Given the description of an element on the screen output the (x, y) to click on. 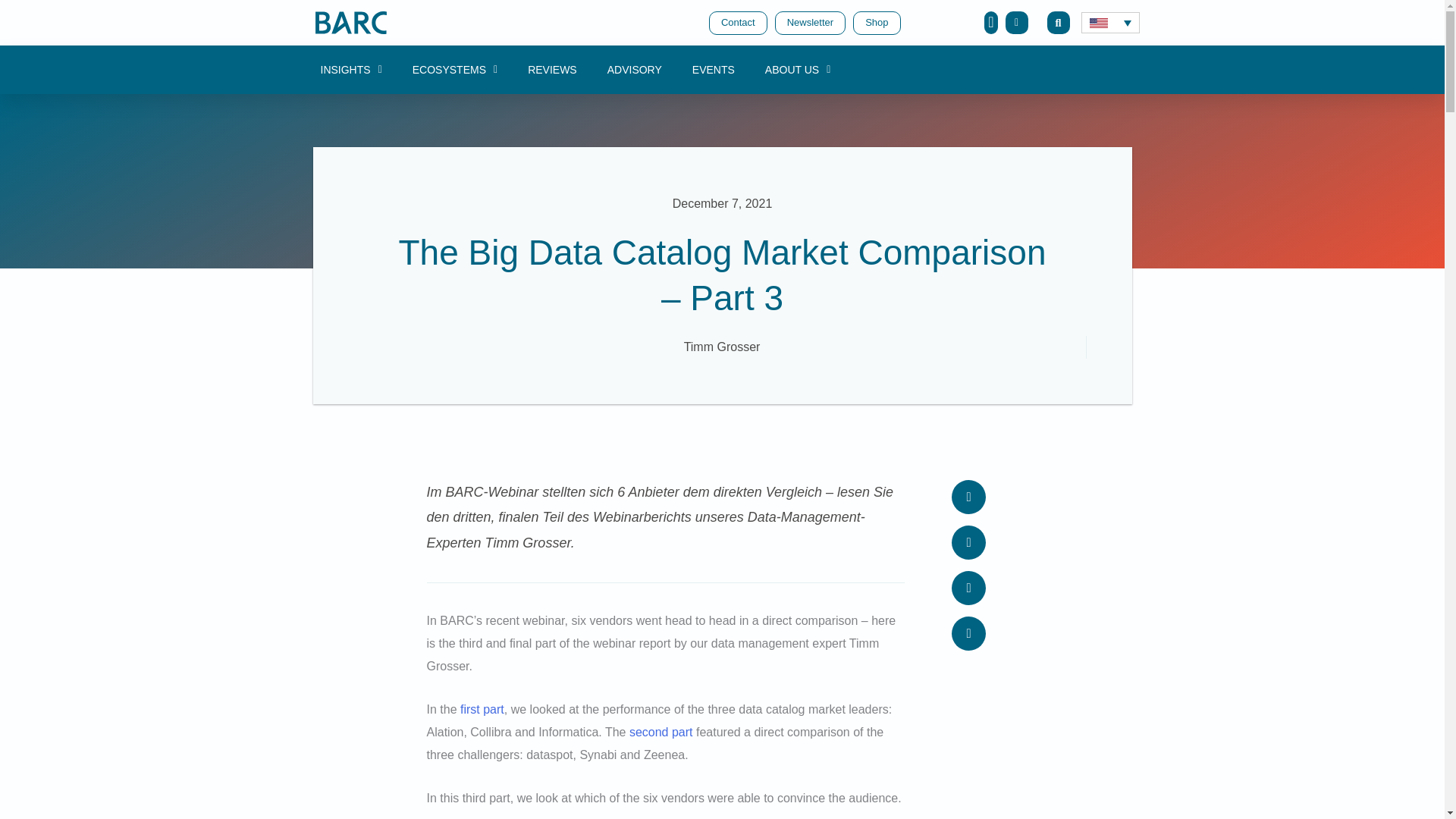
Contact (738, 23)
ECOSYSTEMS (454, 69)
Shop (876, 23)
EVENTS (713, 69)
INSIGHTS (350, 69)
REVIEWS (552, 69)
ABOUT US (797, 69)
Newsletter (809, 23)
ADVISORY (634, 69)
